Given the description of an element on the screen output the (x, y) to click on. 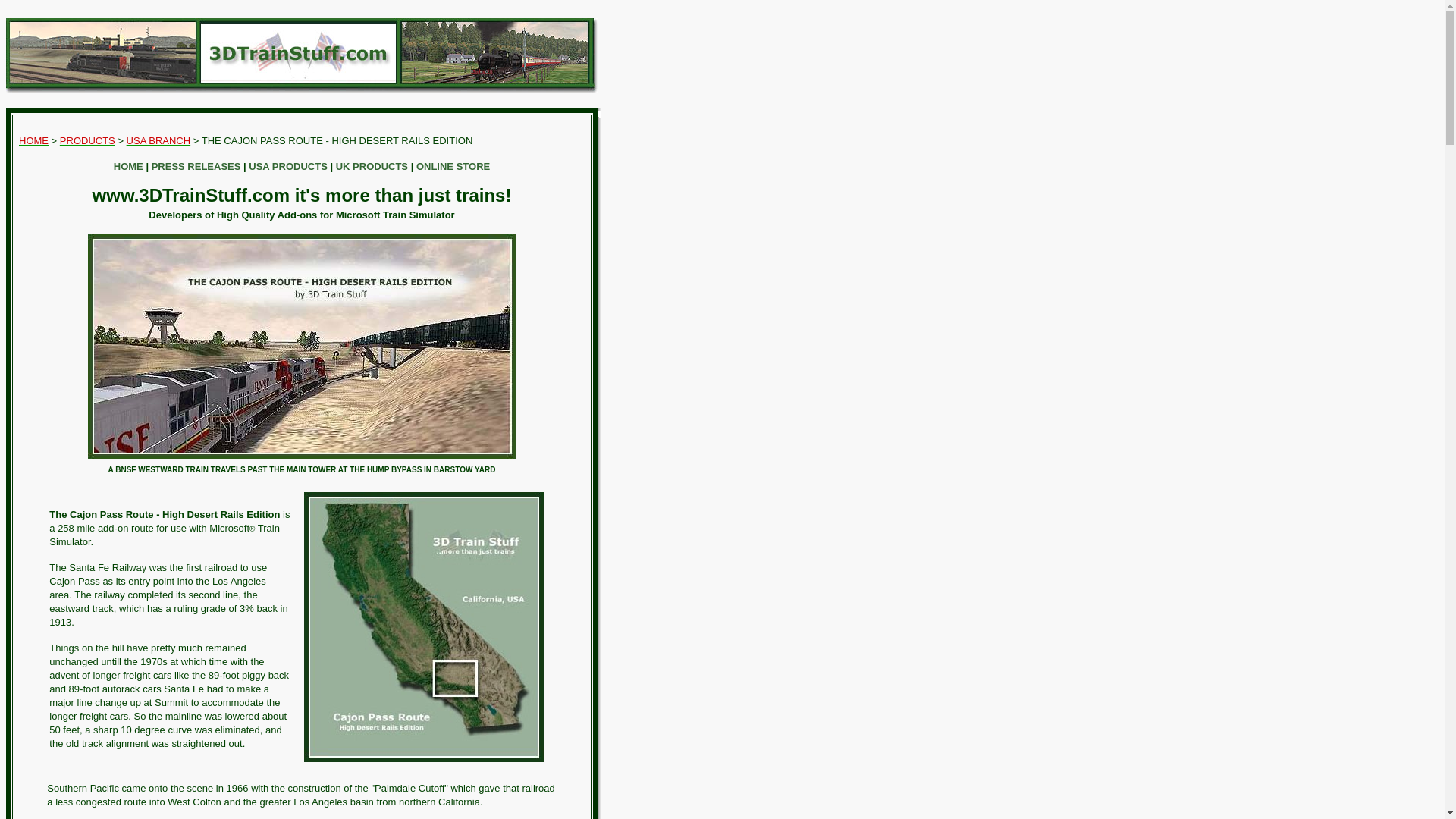
HOME Element type: text (33, 140)
UK PRODUCTS Element type: text (371, 166)
ONLINE STORE Element type: text (452, 166)
PRESS RELEASES Element type: text (196, 166)
PRODUCTS Element type: text (87, 140)
USA PRODUCTS Element type: text (287, 166)
USA BRANCH Element type: text (158, 140)
HOME Element type: text (128, 166)
